Given the description of an element on the screen output the (x, y) to click on. 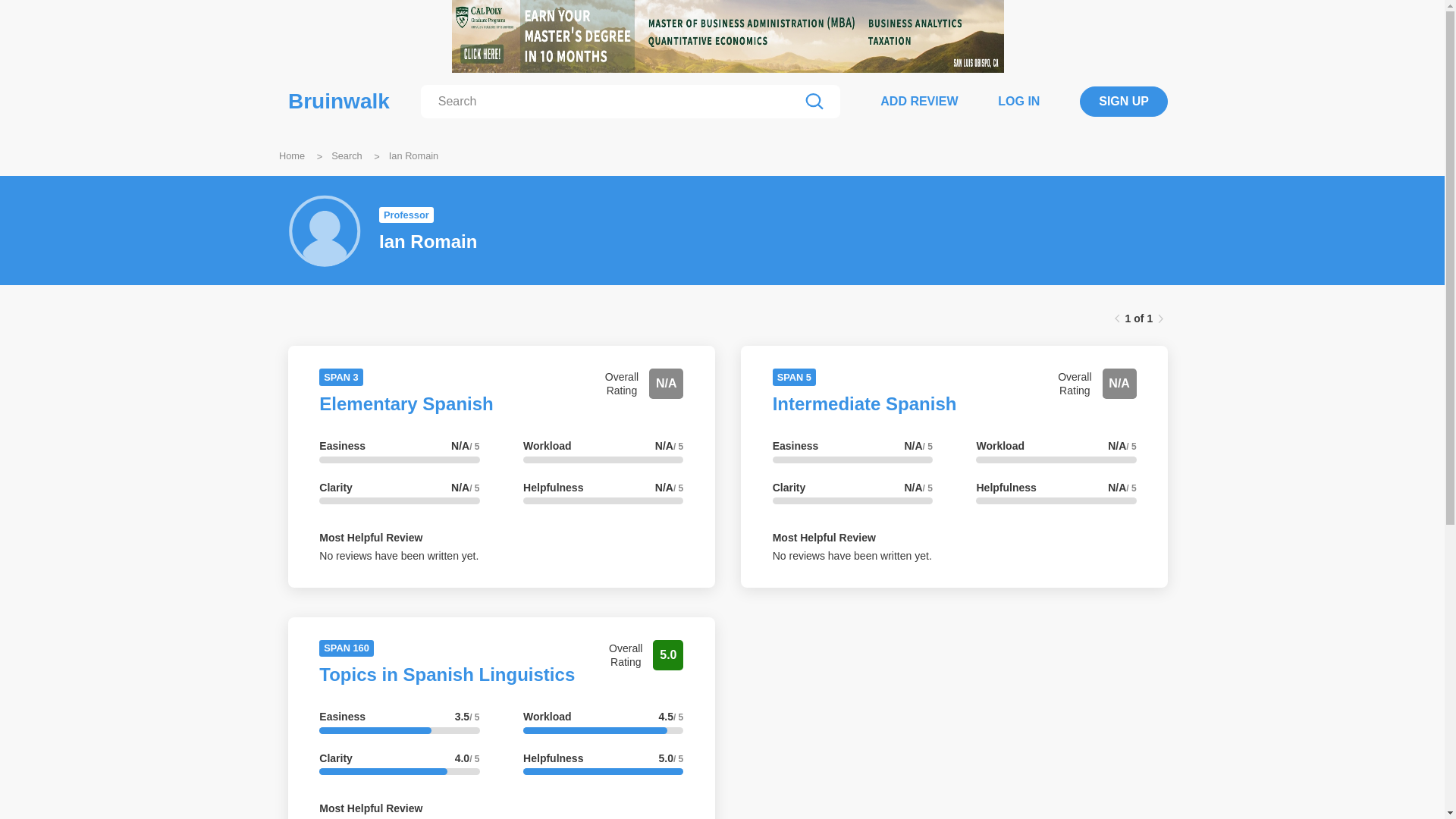
LOG IN (1018, 101)
SPAN 160 (346, 647)
SIGN UP (1123, 101)
Bruinwalk (339, 101)
ADD REVIEW (919, 101)
Elementary Spanish (405, 403)
Home (291, 155)
SPAN 5 (794, 377)
Search (346, 155)
Intermediate Spanish (864, 403)
Ian Romain (413, 155)
Topics in Spanish Linguistics (446, 674)
Most Helpful Review (370, 537)
SPAN 3 (340, 377)
Most Helpful Review (370, 808)
